Given the description of an element on the screen output the (x, y) to click on. 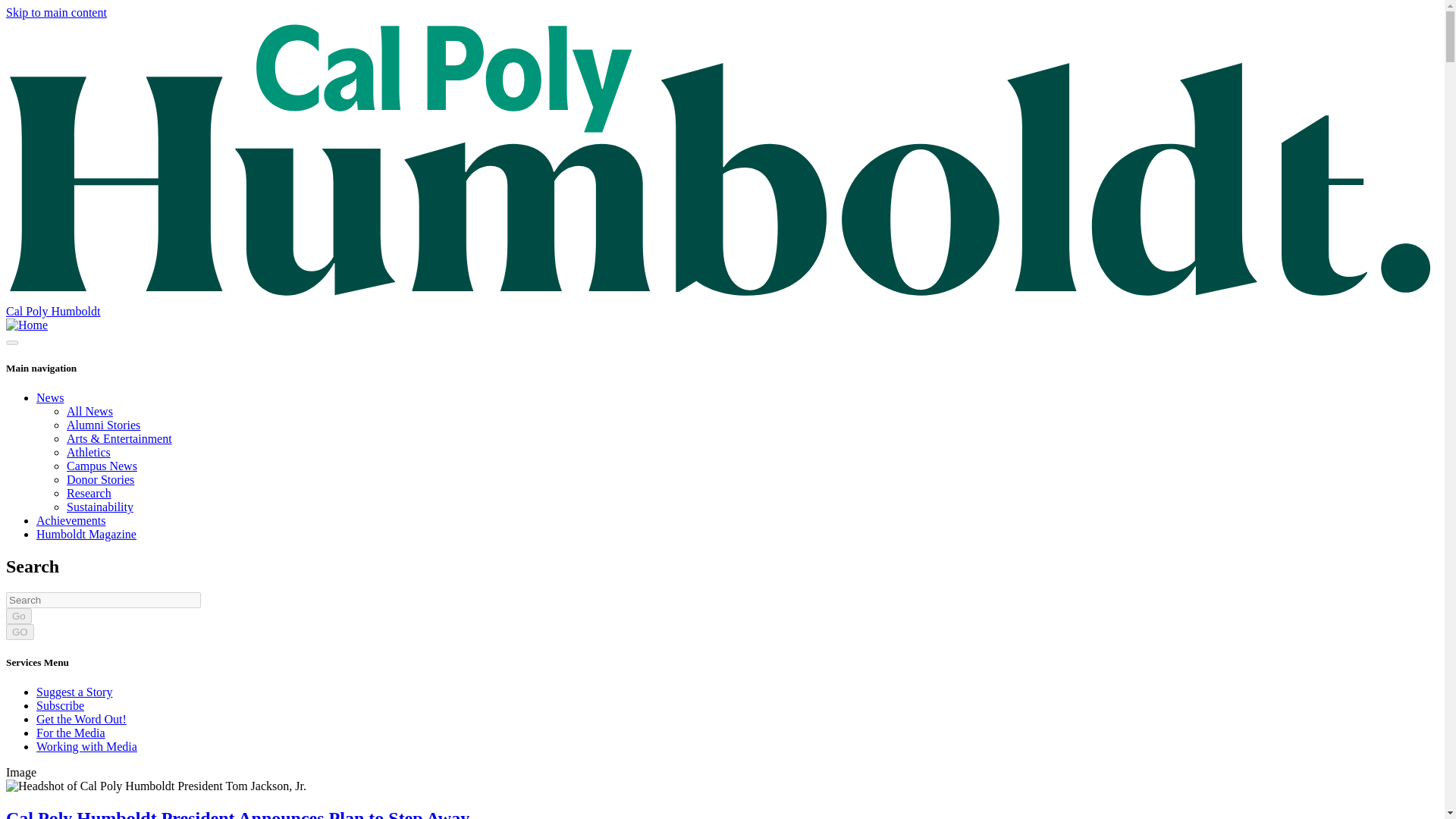
All News (89, 410)
GO (19, 631)
Expand menu News (50, 397)
Suggest a Story (74, 691)
Subscribe (60, 705)
Get the Word Out! (81, 718)
Donor Stories (99, 479)
Sustainability (99, 506)
Athletics (88, 451)
For the Media (70, 732)
Campus News (101, 465)
Working with Media (86, 746)
Research (89, 492)
Go (18, 616)
Home (26, 324)
